Given the description of an element on the screen output the (x, y) to click on. 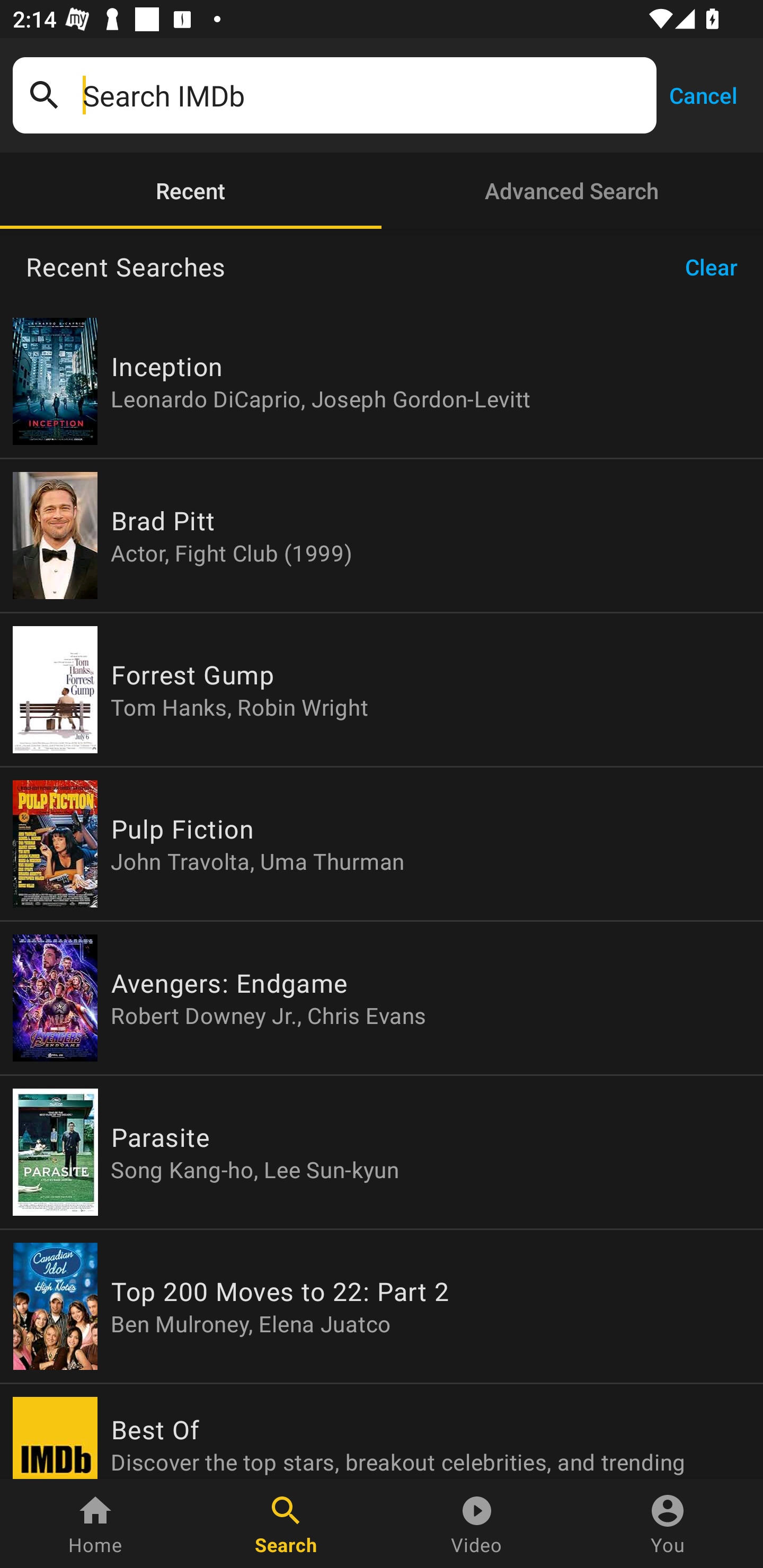
Cancel (703, 94)
Search IMDb (363, 95)
Advanced Search (572, 190)
Clear (717, 266)
Inception Leonardo DiCaprio, Joseph Gordon-Levitt (381, 381)
Brad Pitt Actor, Fight Club (1999) (381, 535)
Forrest Gump Tom Hanks, Robin Wright (381, 689)
Pulp Fiction John Travolta, Uma Thurman (381, 844)
Avengers: Endgame Robert Downey Jr., Chris Evans (381, 997)
Parasite Song Kang-ho, Lee Sun-kyun (381, 1151)
Home (95, 1523)
Video (476, 1523)
You (667, 1523)
